Given the description of an element on the screen output the (x, y) to click on. 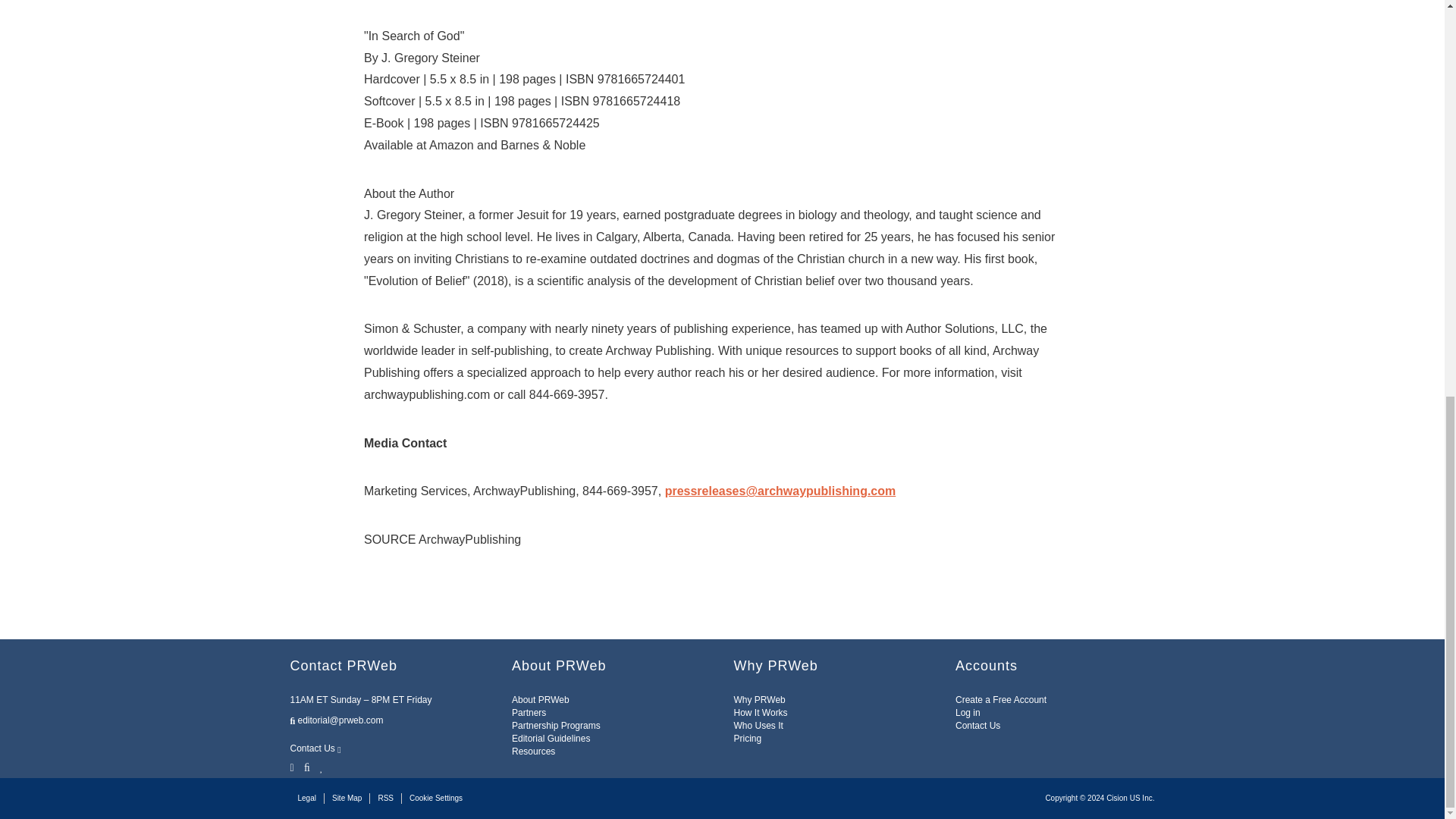
Partners (529, 712)
Why PRWeb (759, 699)
Partnership Programs (555, 725)
Facebook (306, 766)
How It Works (760, 712)
Resources (533, 751)
Editorial Guidelines (550, 738)
About PRWeb (540, 699)
